Given the description of an element on the screen output the (x, y) to click on. 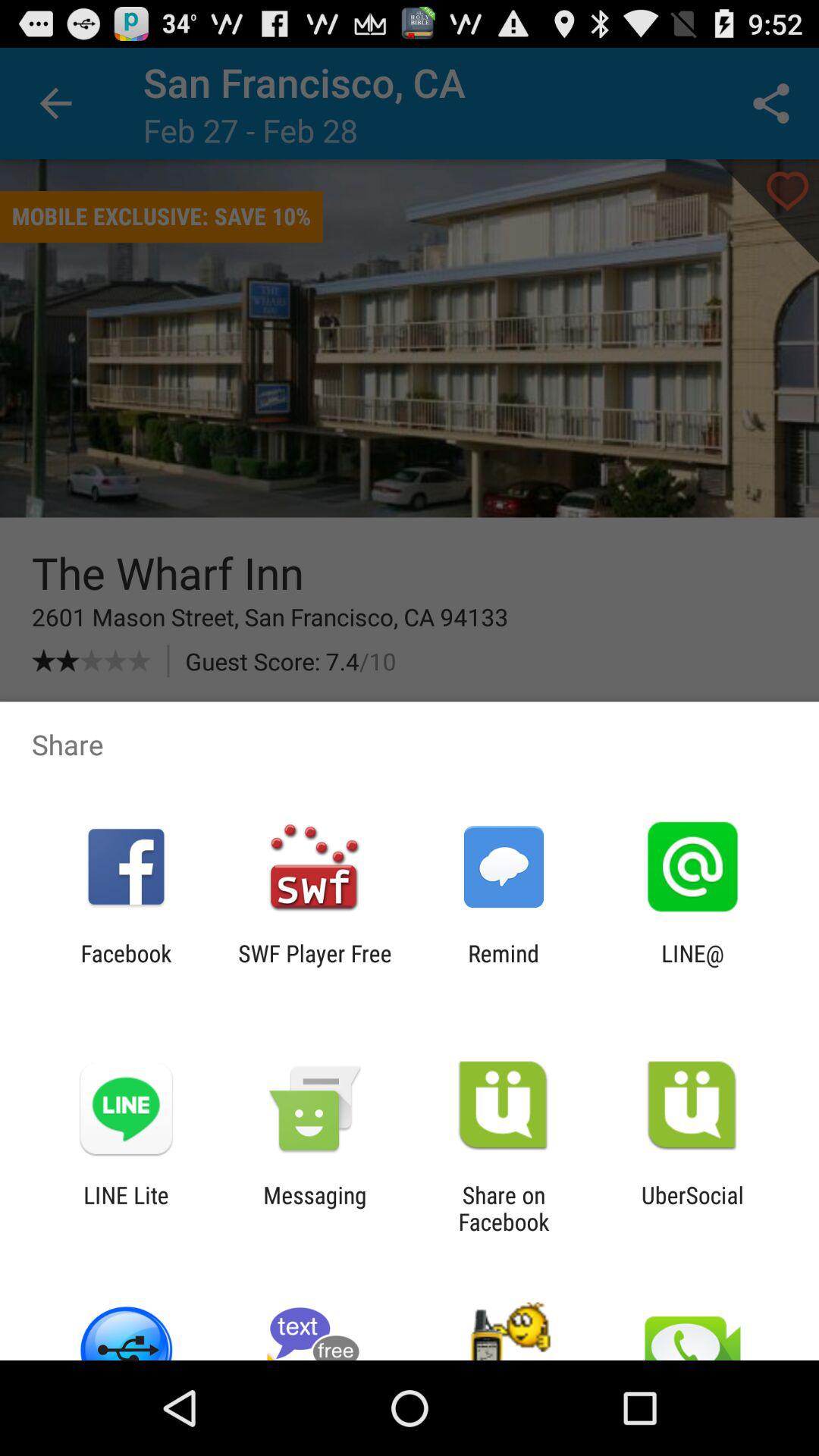
choose item to the left of the share on facebook item (314, 1208)
